Given the description of an element on the screen output the (x, y) to click on. 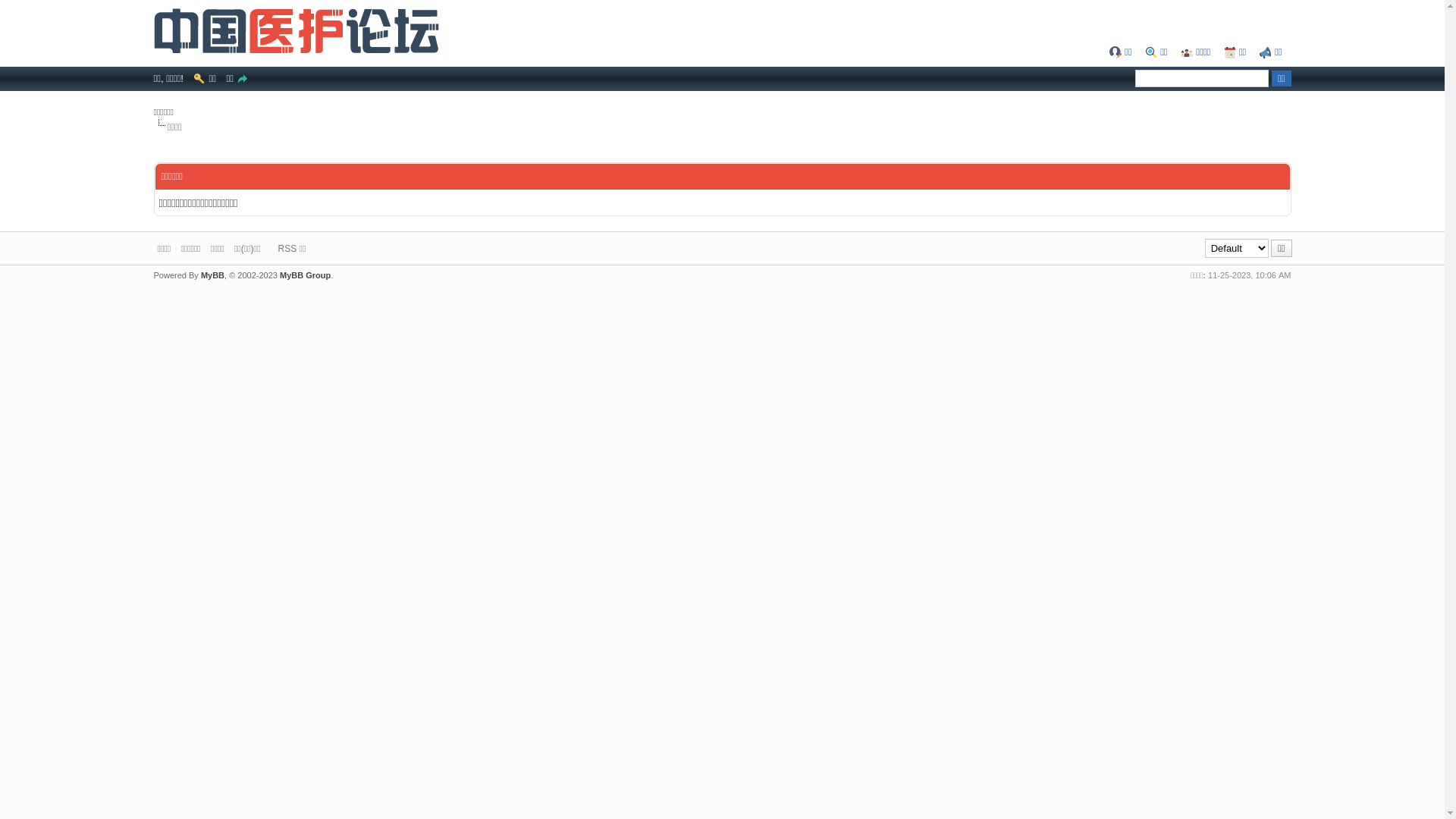
MyBB Group Element type: text (304, 274)
MyBB Element type: text (212, 274)
